Given the description of an element on the screen output the (x, y) to click on. 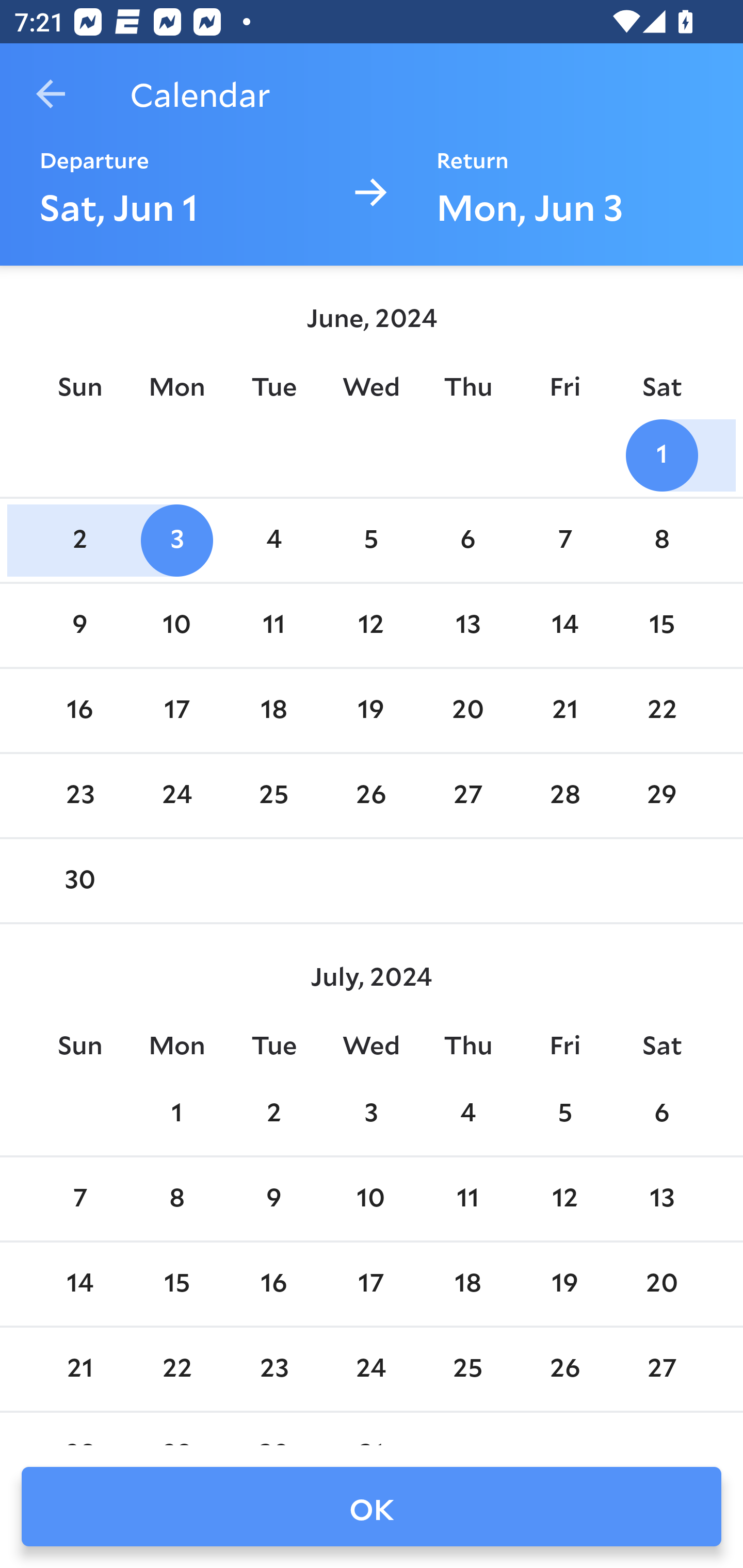
Navigate up (50, 93)
1 (661, 454)
2 (79, 540)
3 (177, 540)
4 (273, 540)
5 (371, 540)
6 (467, 540)
7 (565, 540)
8 (661, 540)
9 (79, 625)
10 (177, 625)
11 (273, 625)
12 (371, 625)
13 (467, 625)
14 (565, 625)
15 (661, 625)
16 (79, 710)
17 (177, 710)
18 (273, 710)
19 (371, 710)
20 (467, 710)
21 (565, 710)
22 (661, 710)
23 (79, 796)
24 (177, 796)
25 (273, 796)
26 (371, 796)
27 (467, 796)
28 (565, 796)
29 (661, 796)
30 (79, 881)
1 (177, 1114)
2 (273, 1114)
3 (371, 1114)
4 (467, 1114)
5 (565, 1114)
6 (661, 1114)
7 (79, 1199)
8 (177, 1199)
9 (273, 1199)
10 (371, 1199)
11 (467, 1199)
12 (565, 1199)
13 (661, 1199)
14 (79, 1284)
15 (177, 1284)
16 (273, 1284)
17 (371, 1284)
18 (467, 1284)
19 (565, 1284)
